Given the description of an element on the screen output the (x, y) to click on. 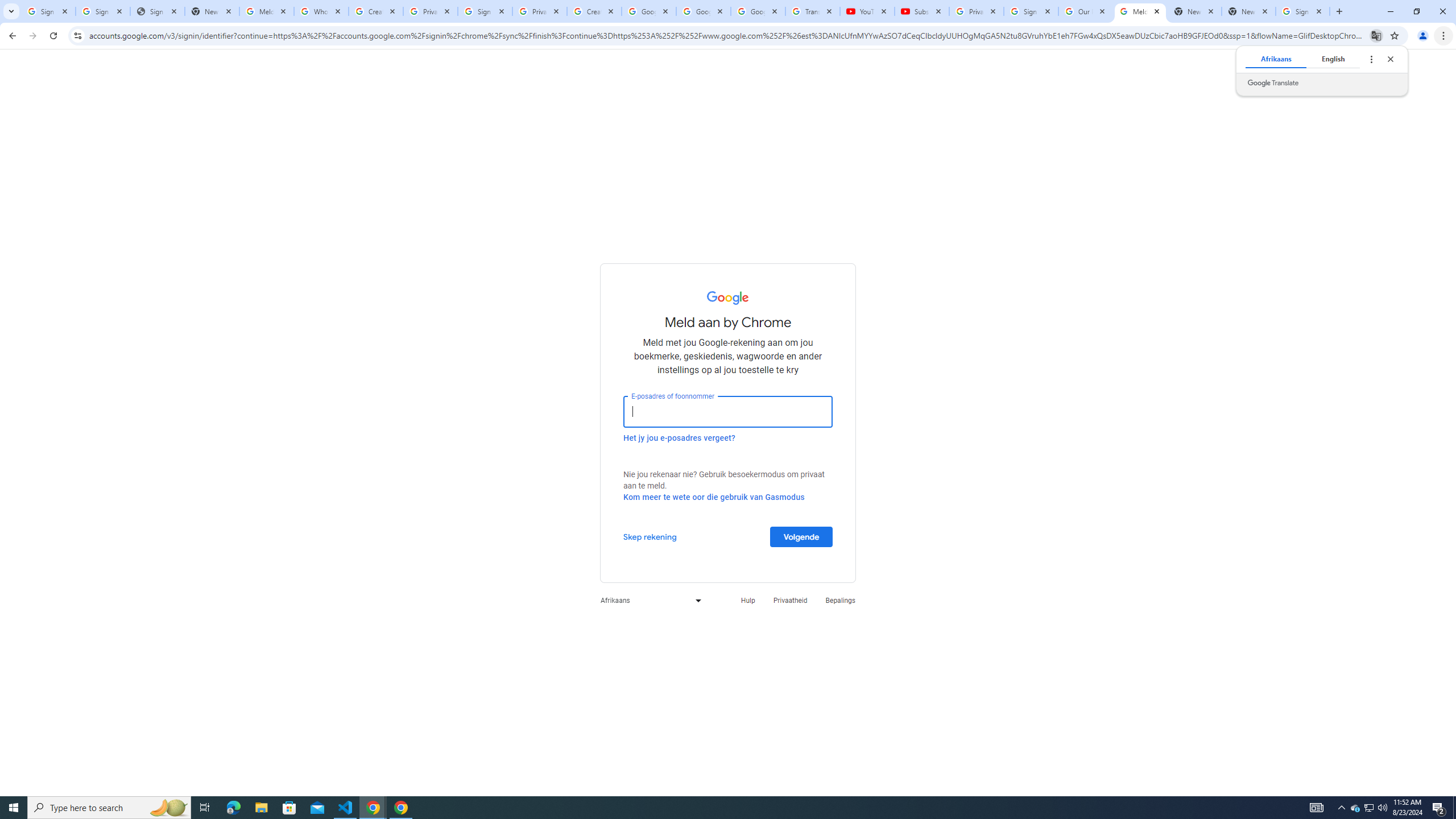
Who is my administrator? - Google Account Help (320, 11)
Sign In - USA TODAY (157, 11)
English (1332, 58)
Sign in - Google Accounts (102, 11)
Create your Google Account (375, 11)
